Given the description of an element on the screen output the (x, y) to click on. 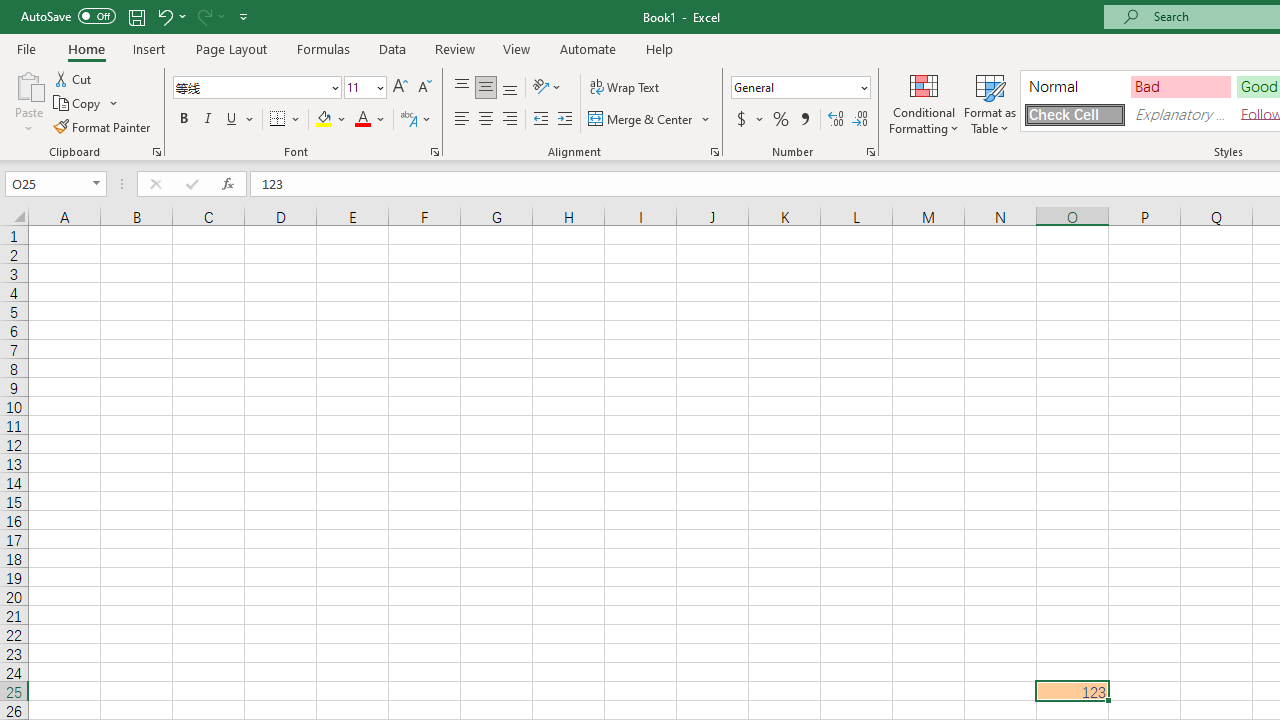
Bottom Border (278, 119)
Format Painter (103, 126)
Format Cell Font (434, 151)
Explanatory Text (1180, 114)
Font Size (365, 87)
Fill Color (331, 119)
Office Clipboard... (156, 151)
Font (256, 87)
